Given the description of an element on the screen output the (x, y) to click on. 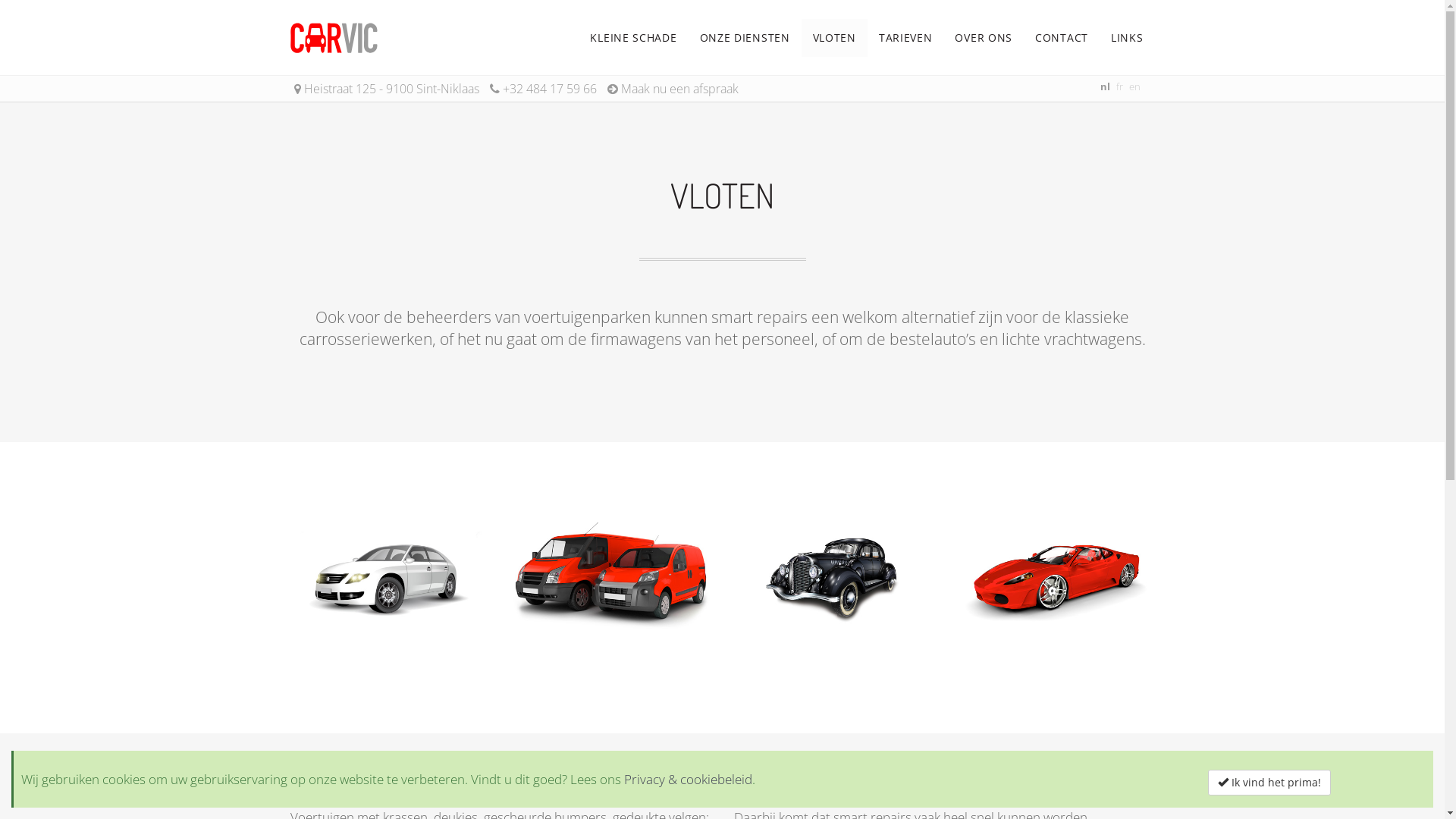
KLEINE SCHADE Element type: text (632, 37)
fr Element type: text (1119, 86)
Privacy & cookiebeleid Element type: text (688, 778)
Ik vind het prima! Element type: text (1269, 781)
LINKS Element type: text (1126, 37)
OVER ONS Element type: text (983, 37)
nl Element type: text (1104, 86)
en Element type: text (1133, 86)
VLOTEN Element type: text (834, 37)
TARIEVEN Element type: text (905, 37)
CONTACT Element type: text (1061, 37)
+32 484 17 59 66 Element type: text (549, 88)
ONZE DIENSTEN Element type: text (744, 37)
Maak nu een afspraak Element type: text (678, 88)
